Given the description of an element on the screen output the (x, y) to click on. 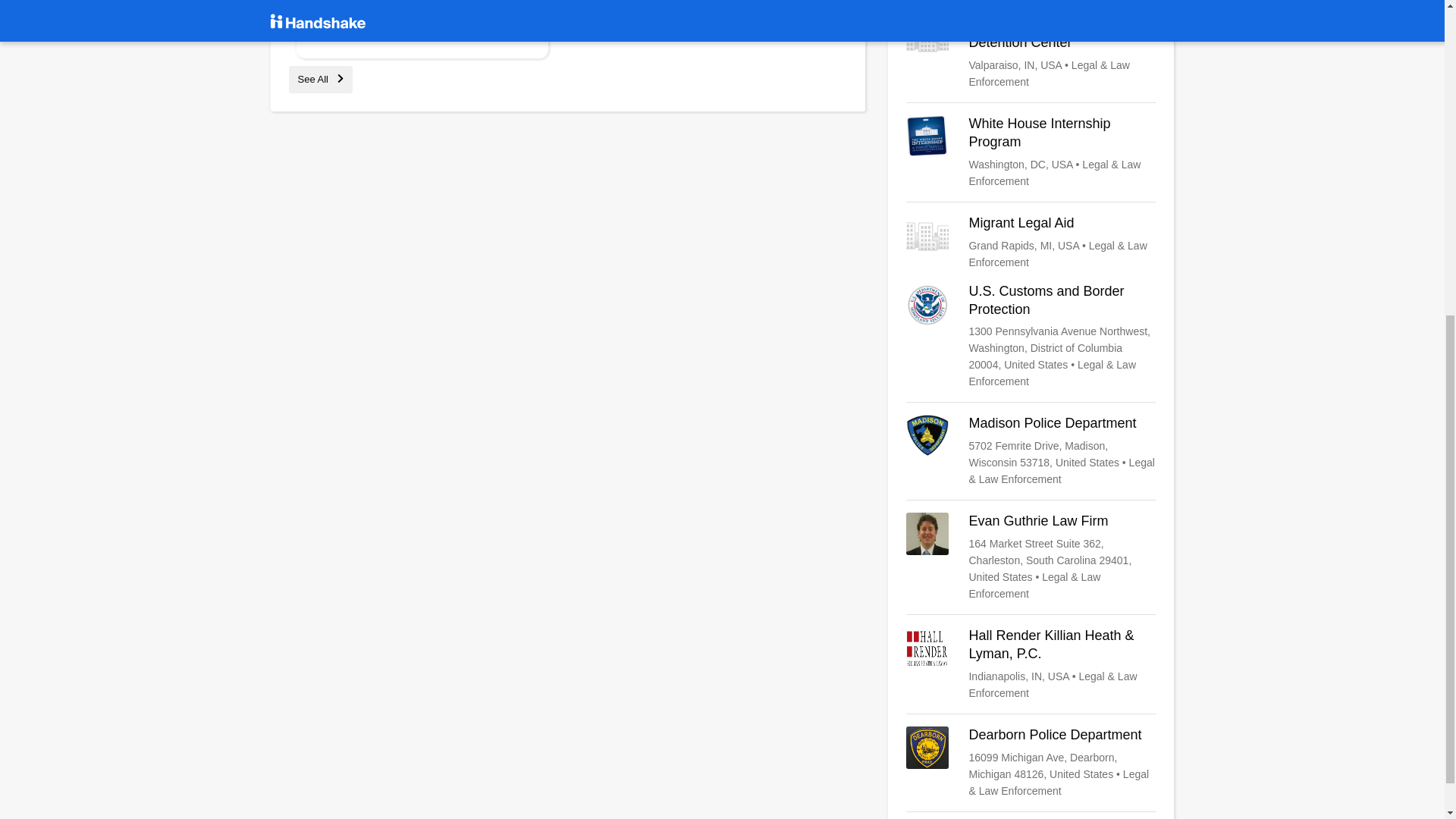
Evan Guthrie Law Firm (1030, 556)
Porter County Juvenile Detention Center (1030, 52)
U.S. Customs and Border Protection (1030, 336)
White House Internship Program (1030, 152)
Migrant Legal Aid (1030, 242)
See All (320, 79)
Madison Police Department (1030, 450)
Dearborn Police Department (1030, 762)
